Given the description of an element on the screen output the (x, y) to click on. 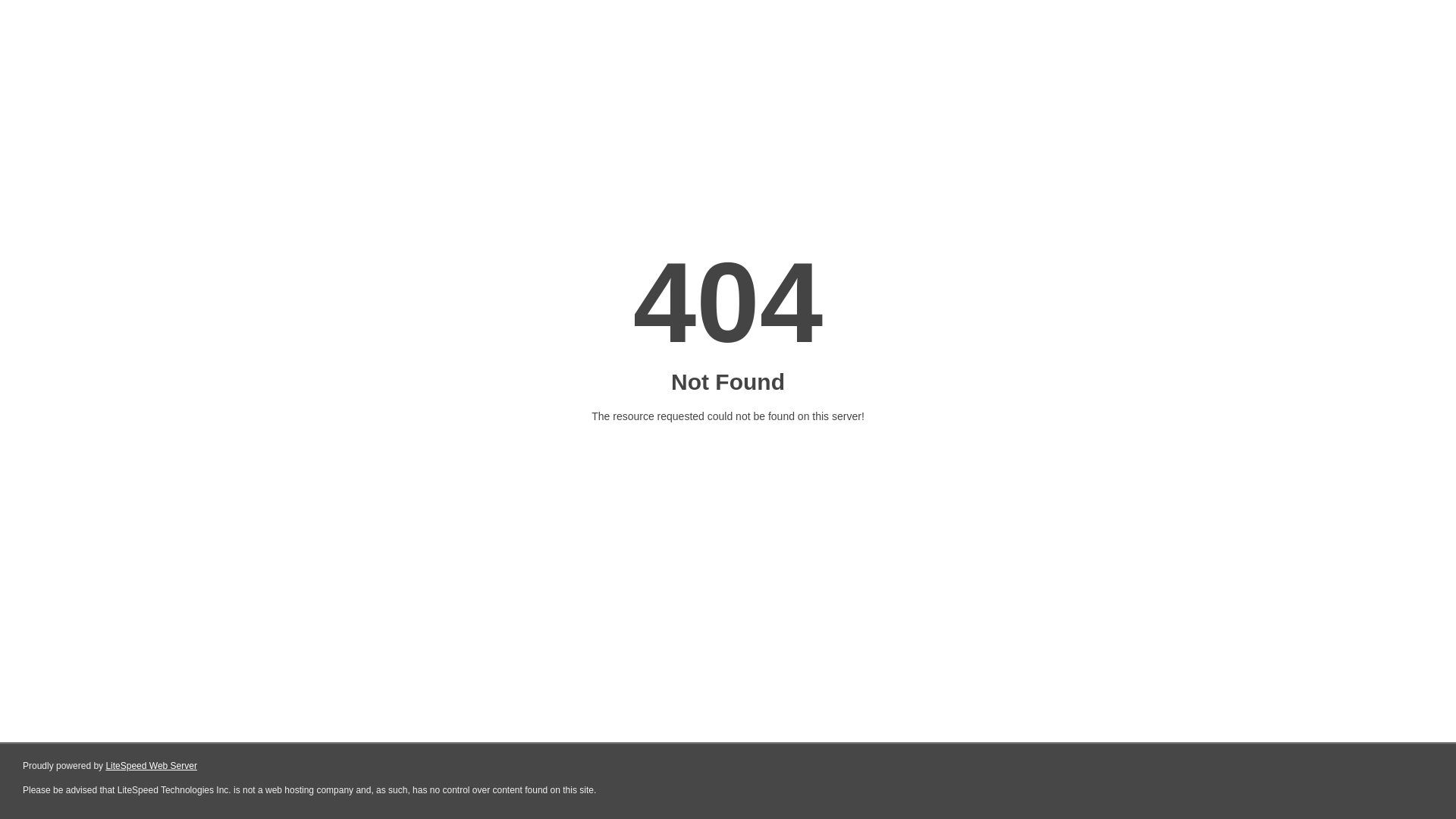
LiteSpeed Web Server Element type: text (151, 765)
